Given the description of an element on the screen output the (x, y) to click on. 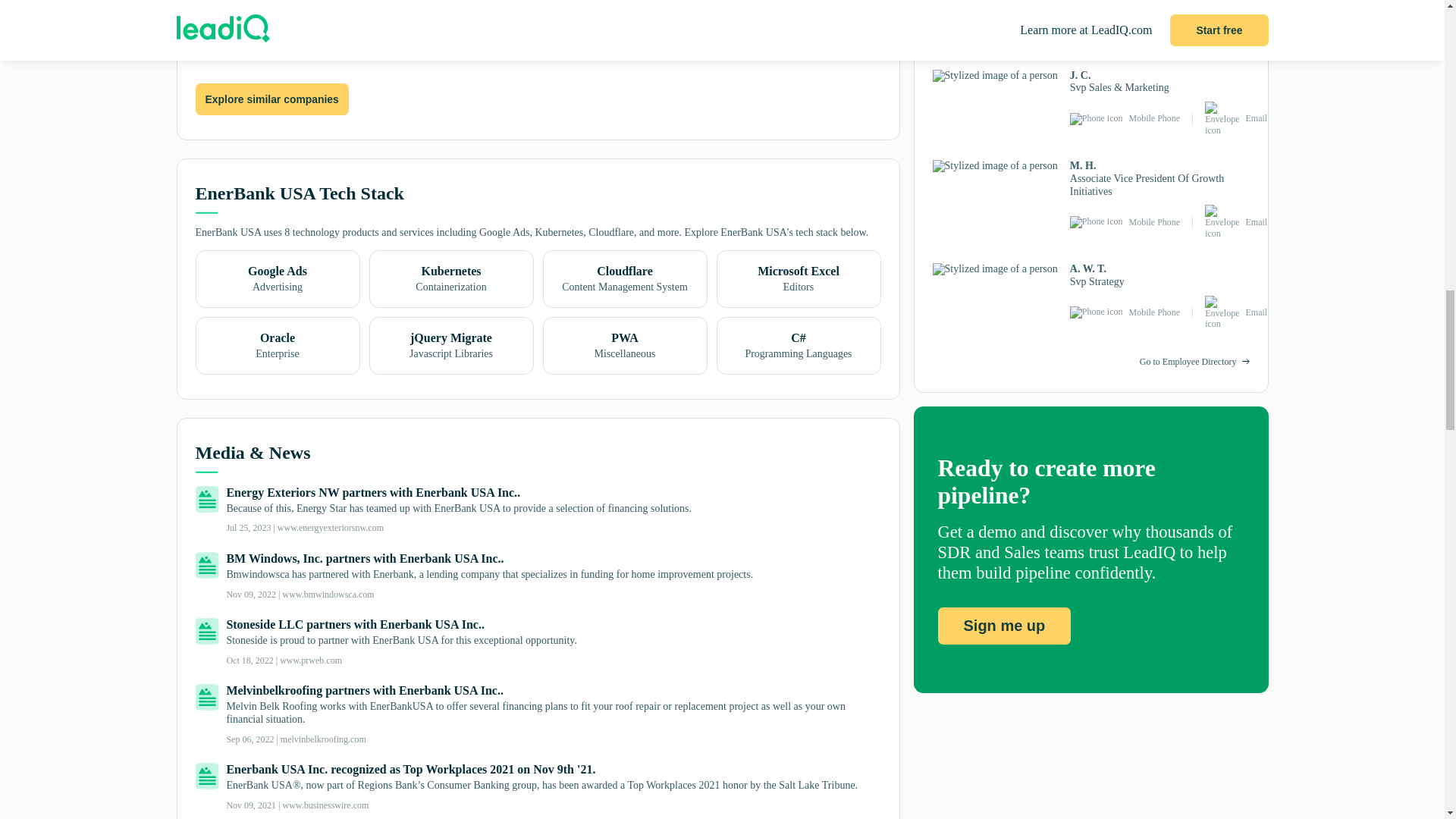
Explore similar companies (272, 99)
Explore similar companies (272, 100)
